Given the description of an element on the screen output the (x, y) to click on. 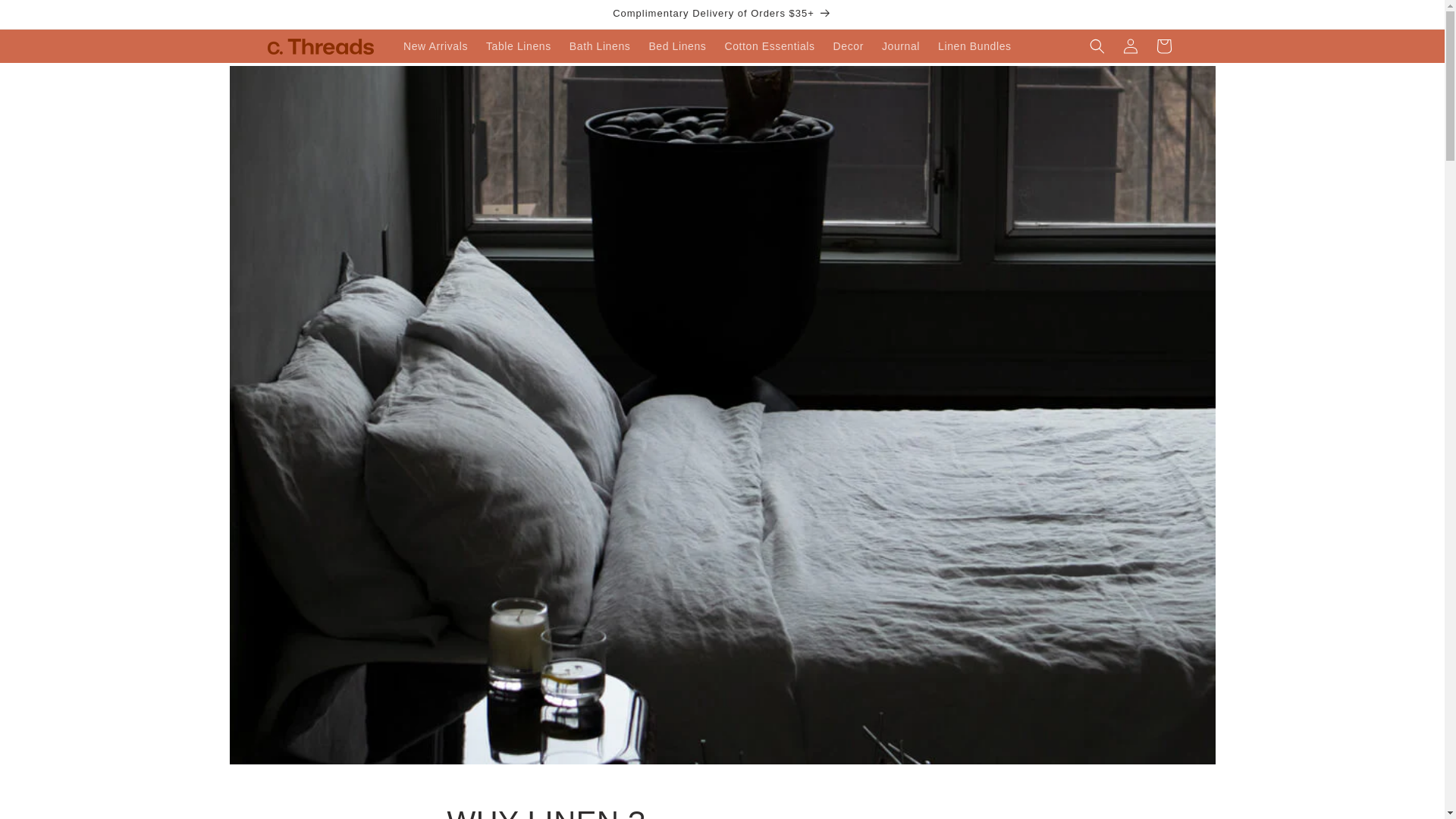
New Arrivals (435, 46)
Log in (1130, 46)
Skip to content (46, 18)
Journal (900, 46)
Cotton Essentials (769, 46)
Cart (1163, 46)
Decor (848, 46)
Linen Bundles (974, 46)
Table Linens (518, 46)
Bed Linens (676, 46)
